Given the description of an element on the screen output the (x, y) to click on. 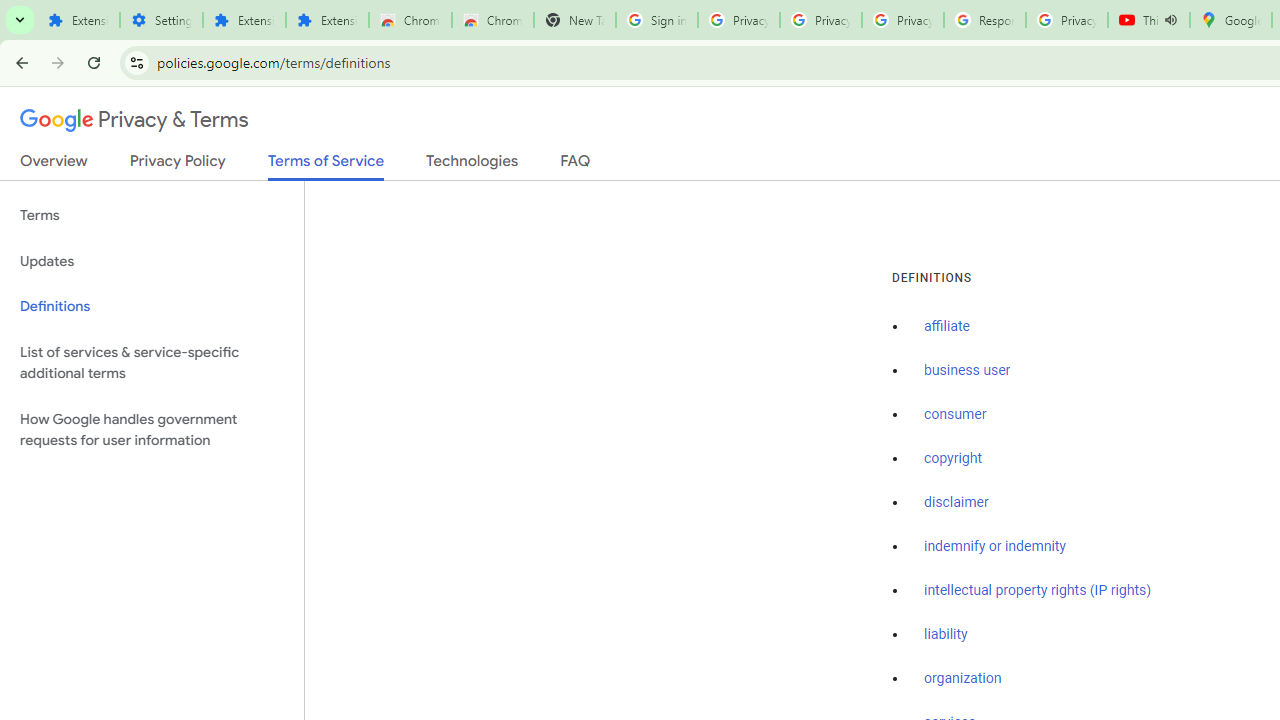
New Tab (574, 20)
liability (945, 634)
Chrome Web Store - Themes (492, 20)
Sign in - Google Accounts (656, 20)
Extensions (326, 20)
